Given the description of an element on the screen output the (x, y) to click on. 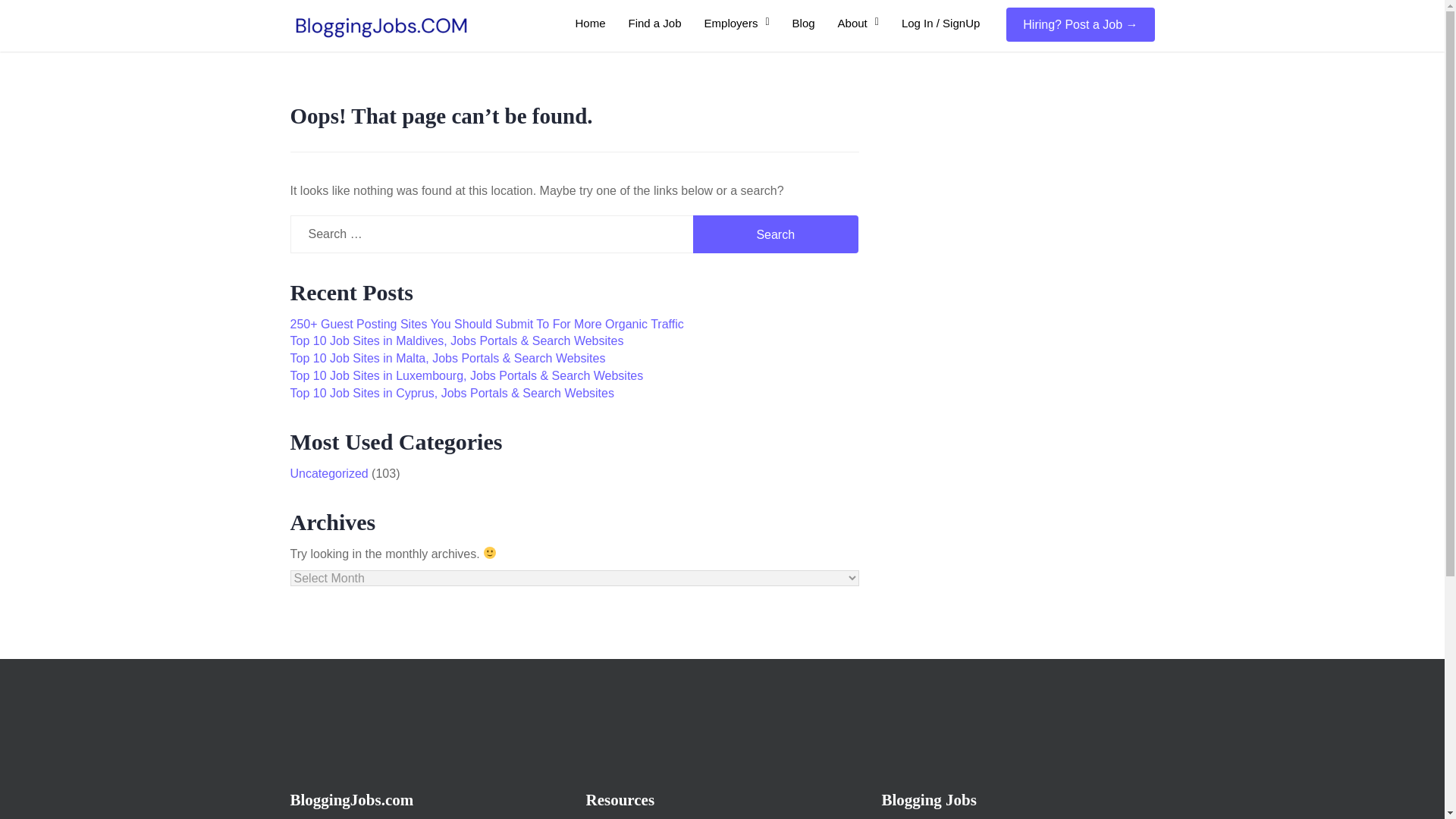
About (858, 22)
Find a Job (655, 22)
Blog (803, 22)
Employers (736, 22)
Search (776, 234)
Home (590, 22)
Blog (803, 22)
Search (776, 234)
Home (590, 22)
Uncategorized (328, 472)
About (858, 22)
Search (776, 234)
Find a Job (655, 22)
Employers (736, 22)
